Given the description of an element on the screen output the (x, y) to click on. 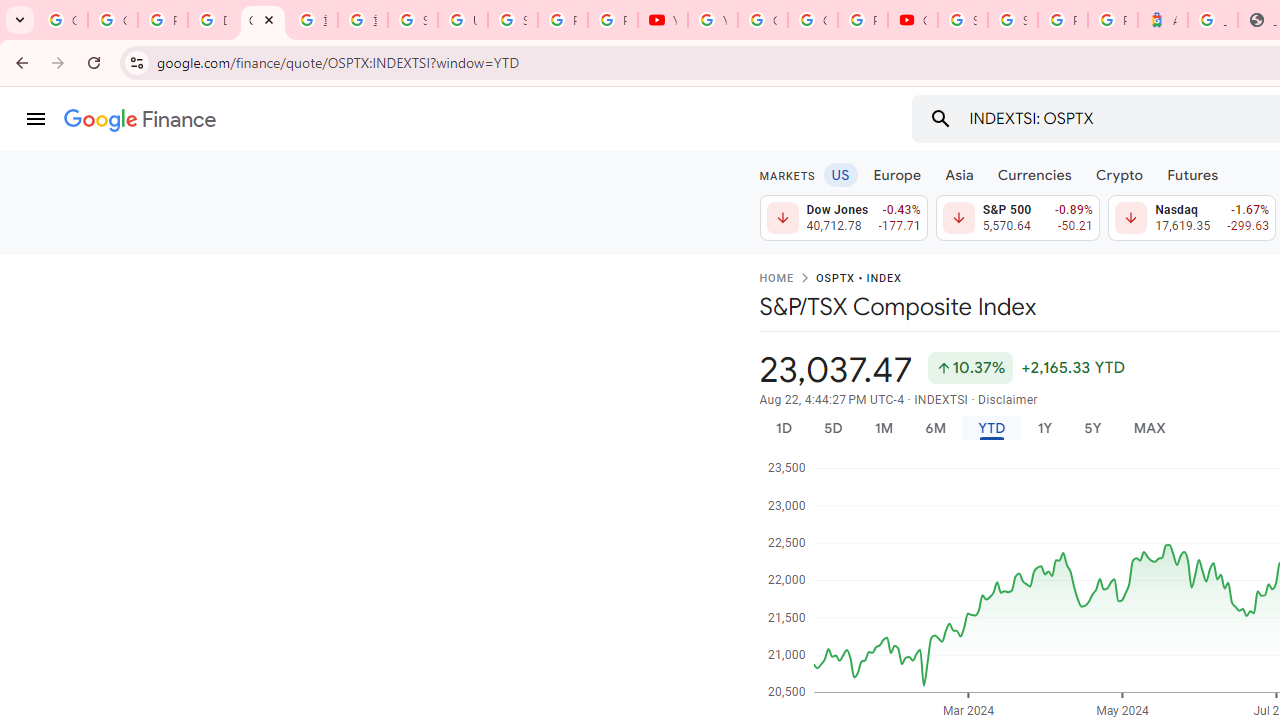
1M (882, 427)
6M (934, 427)
Create your Google Account (813, 20)
Futures (1192, 174)
1Y (1044, 427)
Sign in - Google Accounts (412, 20)
Atour Hotel - Google hotels (1162, 20)
YouTube (712, 20)
1D (783, 427)
Content Creator Programs & Opportunities - YouTube Creators (913, 20)
Sign in - Google Accounts (1013, 20)
Crypto (1119, 174)
